Given the description of an element on the screen output the (x, y) to click on. 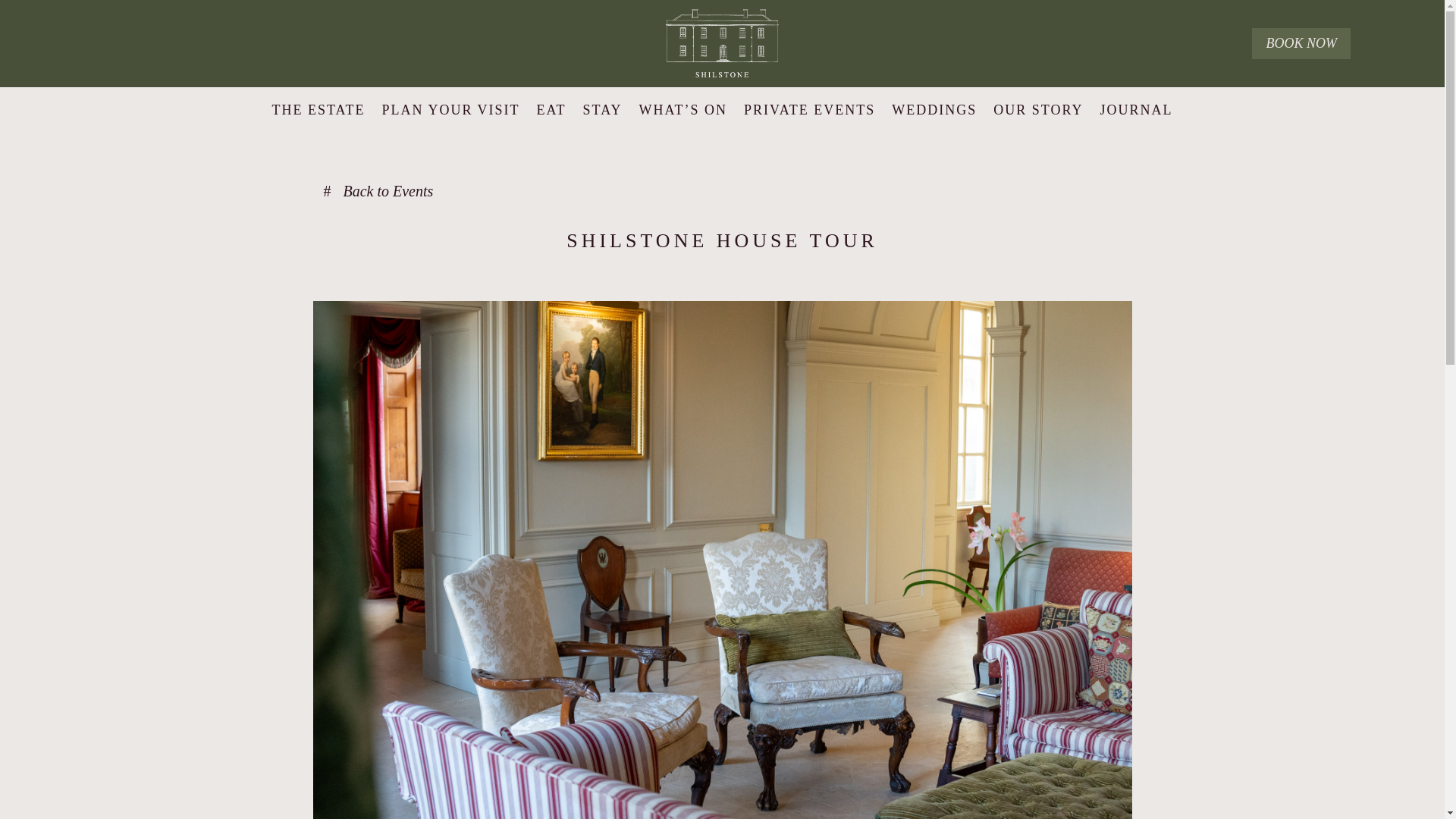
PRIVATE EVENTS (809, 112)
Back to Events (378, 190)
EAT (551, 112)
Shilstone (721, 43)
STAY (603, 112)
OUR STORY (1037, 112)
PLAN YOUR VISIT (450, 112)
BOOK NOW (1301, 42)
THE ESTATE (318, 112)
JOURNAL (1135, 112)
WEDDINGS (933, 112)
